Given the description of an element on the screen output the (x, y) to click on. 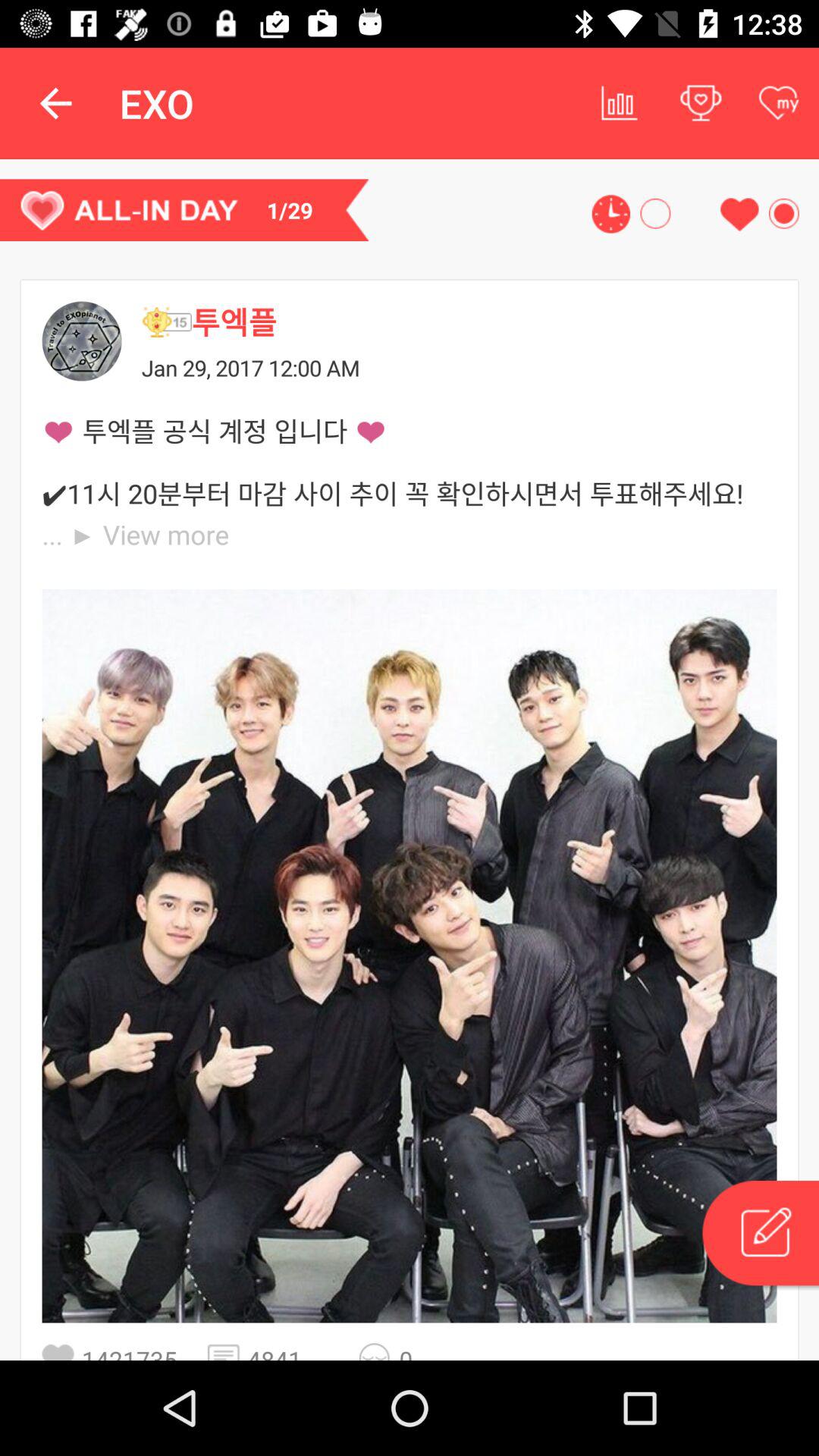
jump until the 0 icon (419, 1351)
